Given the description of an element on the screen output the (x, y) to click on. 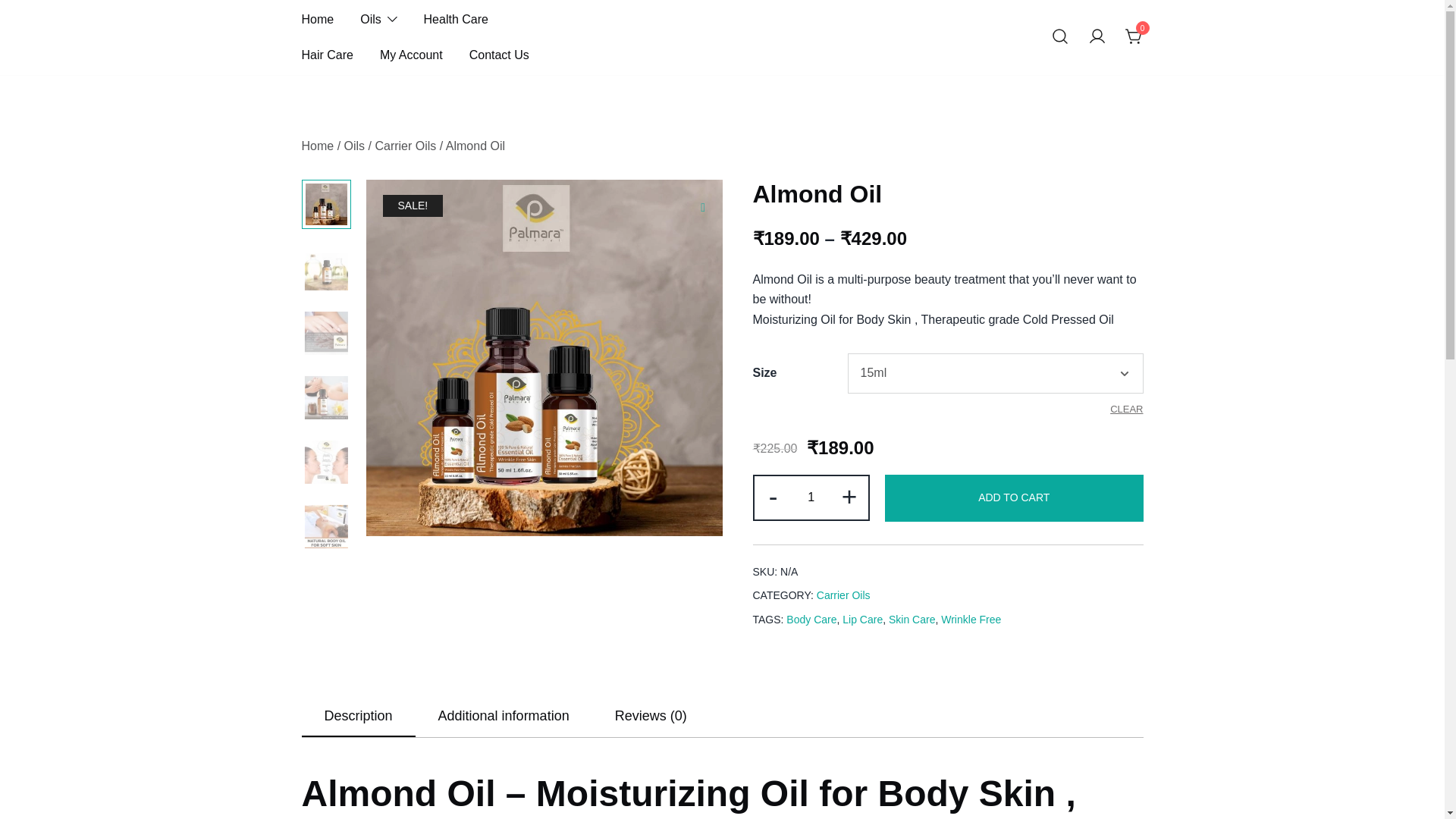
Home (317, 145)
Almond Oil for Skin (543, 357)
Your account (1096, 37)
Hair Care (327, 55)
Search for a product (1059, 37)
Home (317, 19)
Contact Us (498, 55)
0 (1133, 36)
Health Care (455, 19)
Oils (354, 145)
